Given the description of an element on the screen output the (x, y) to click on. 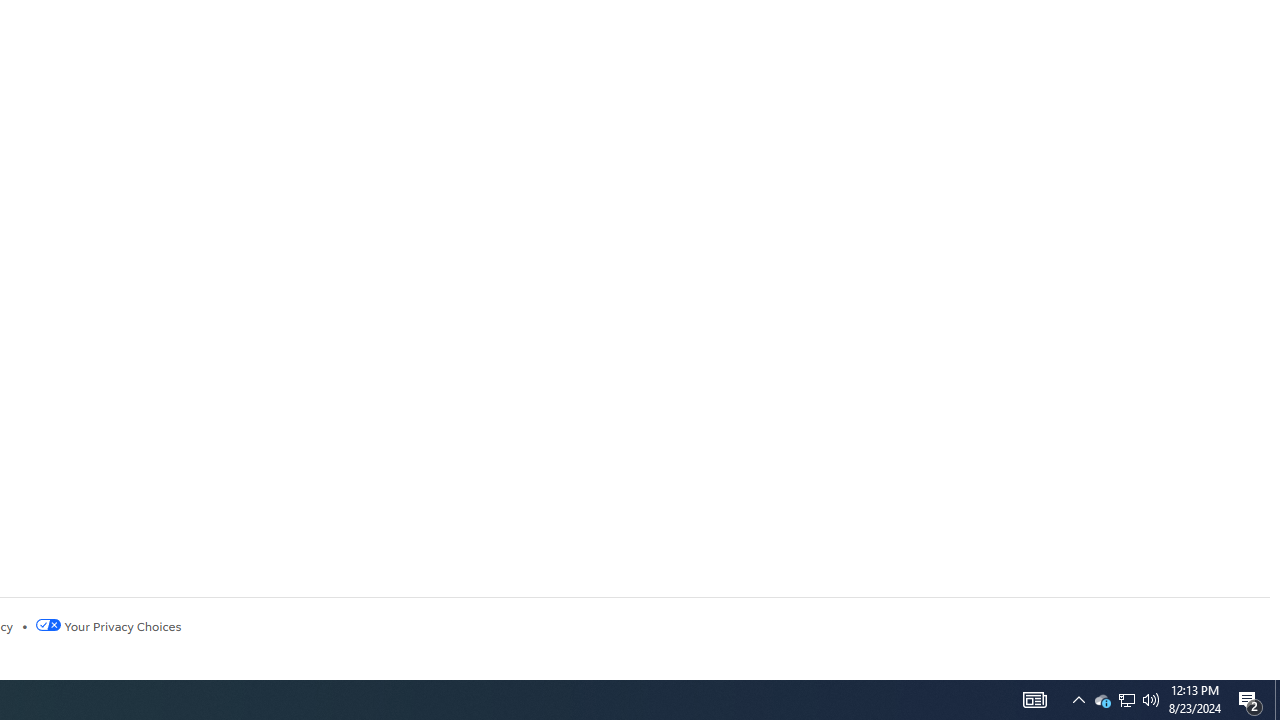
 Your Privacy Choices (108, 626)
